Given the description of an element on the screen output the (x, y) to click on. 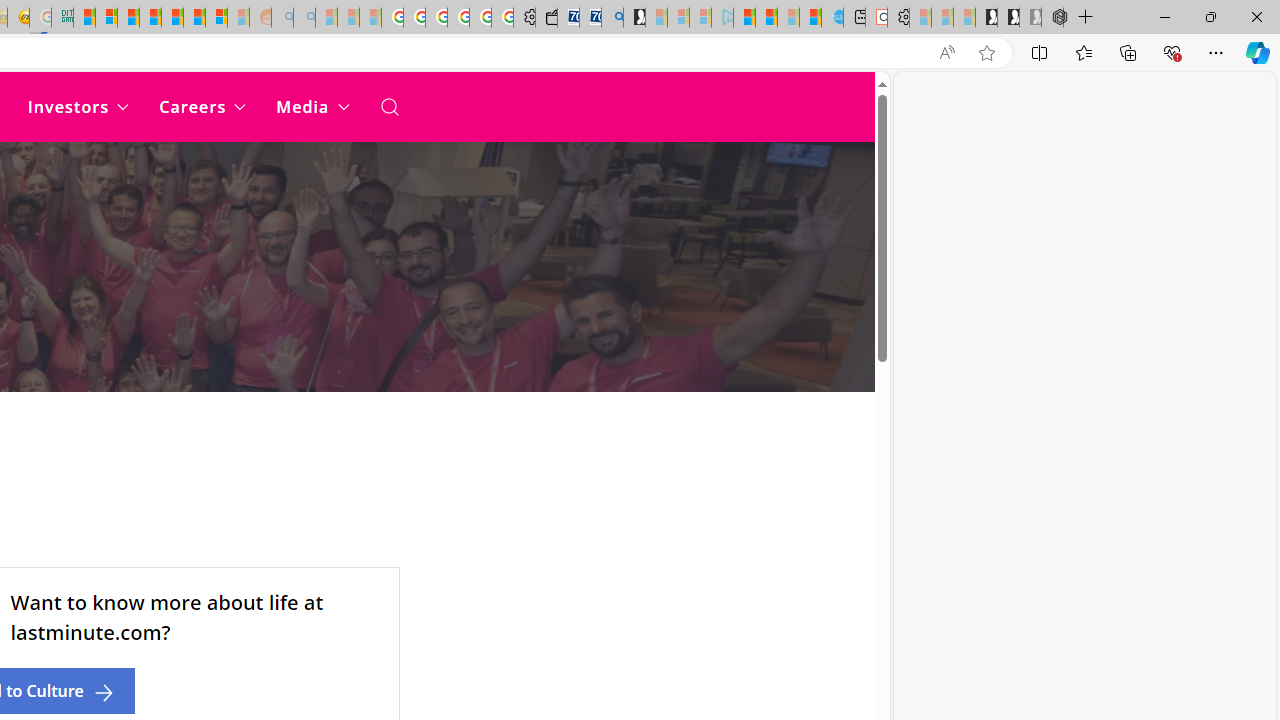
Split screen (1039, 52)
Home | Sky Blue Bikes - Sky Blue Bikes (832, 17)
Browser essentials (1171, 52)
Collections (1128, 52)
Utah sues federal government - Search - Sleeping (304, 17)
Student Loan Update: Forgiveness Program Ends This Month (150, 17)
